Given the description of an element on the screen output the (x, y) to click on. 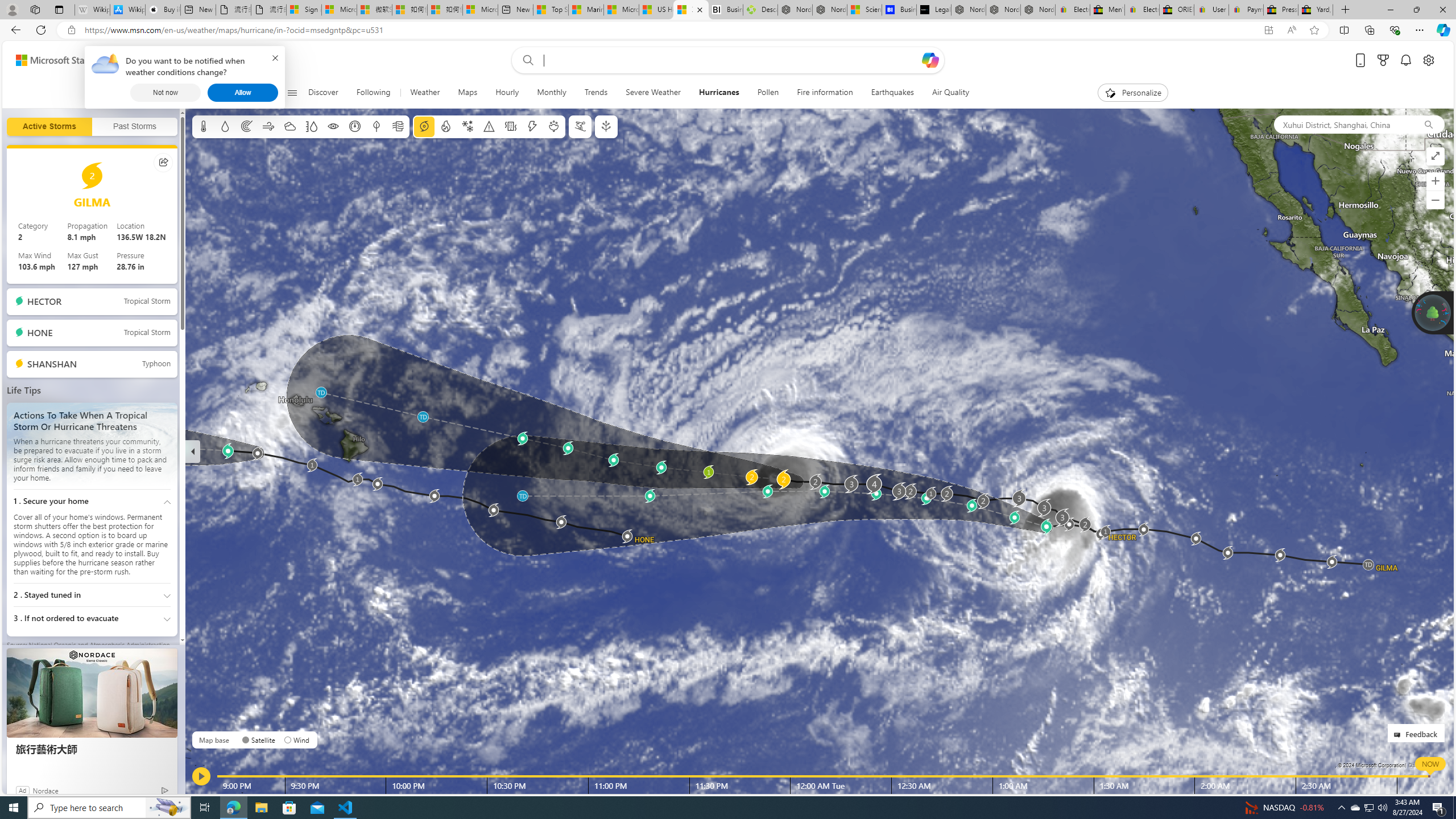
Pollen (767, 92)
Allow (243, 92)
Severe Weather (653, 92)
HECTOR Tropical Storm (92, 301)
